Given the description of an element on the screen output the (x, y) to click on. 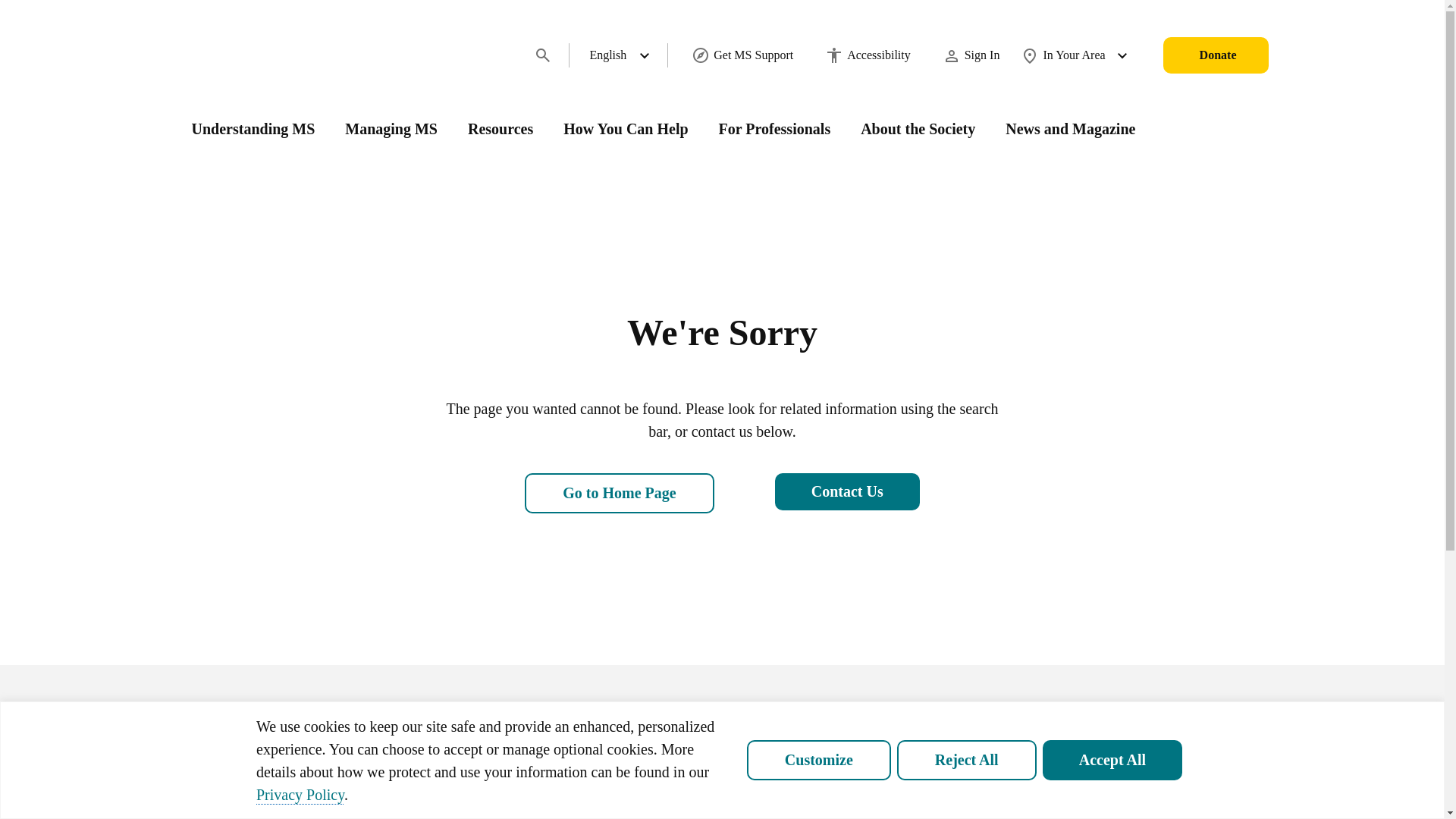
Open search (542, 54)
National Multiple Sclerosis Society Logo (259, 55)
National Multiple Sclerosis Society Logo (259, 55)
